Given the description of an element on the screen output the (x, y) to click on. 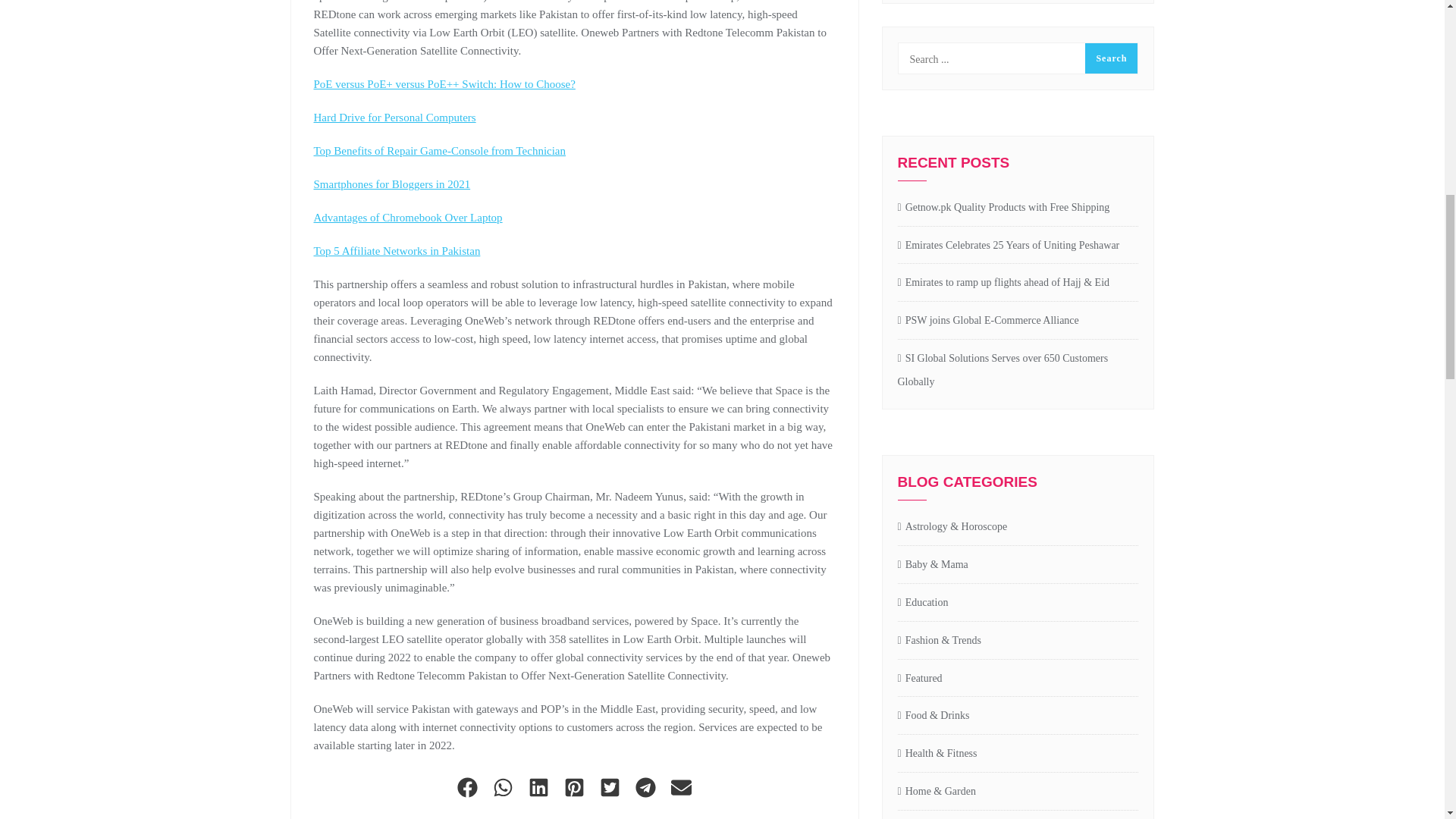
Search (1110, 58)
Top 5 Affiliate Networks in Pakistan (397, 250)
Top Benefits of Repair Game-Console from Technician (440, 150)
Advantages of Chromebook Over Laptop (408, 217)
Smartphones for Bloggers in 2021 (392, 184)
Search (1110, 58)
Hard Drive for Personal Computers (395, 117)
